Given the description of an element on the screen output the (x, y) to click on. 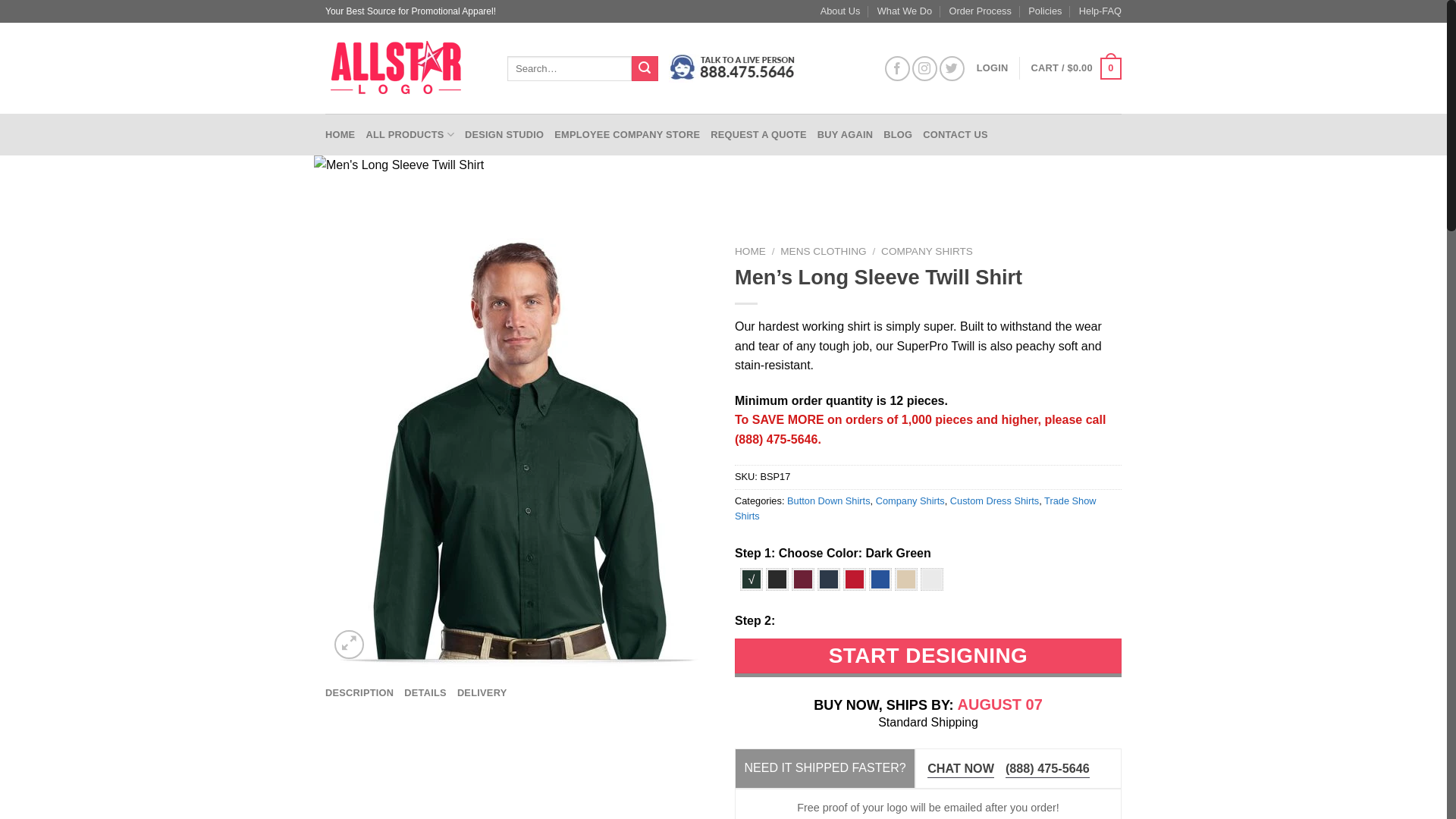
Cart (1075, 68)
Order Process (980, 11)
Follow on Facebook (897, 68)
Burgundy (802, 579)
Dark Green (751, 579)
Policies (1044, 11)
Zoom (349, 644)
About Us (840, 11)
Help-FAQ (1099, 11)
ALL PRODUCTS (409, 134)
HOME (339, 134)
Navy (828, 579)
Search (644, 68)
What We Do (904, 11)
